Given the description of an element on the screen output the (x, y) to click on. 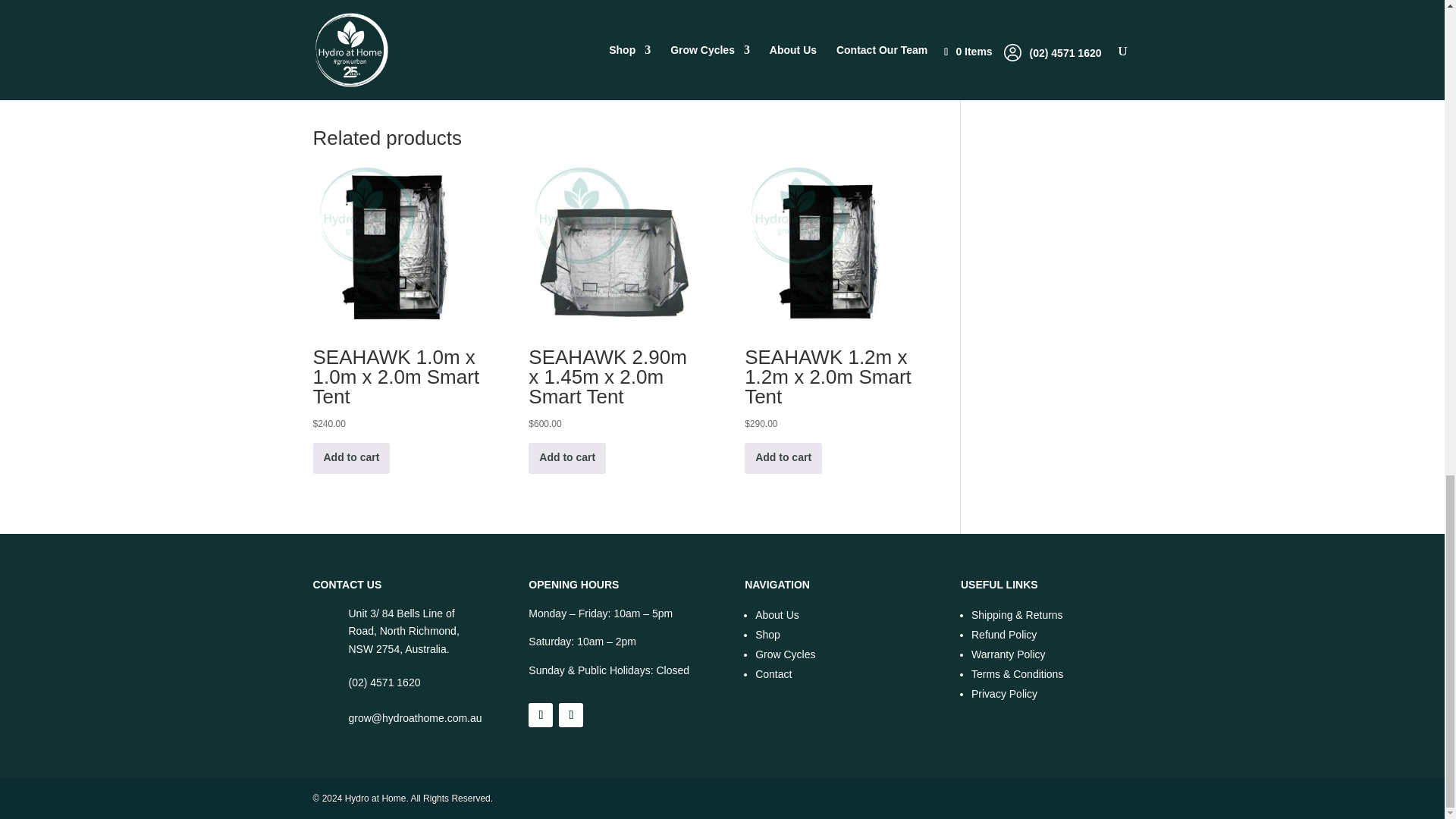
Follow on Facebook (540, 714)
Follow on Instagram (571, 714)
